Given the description of an element on the screen output the (x, y) to click on. 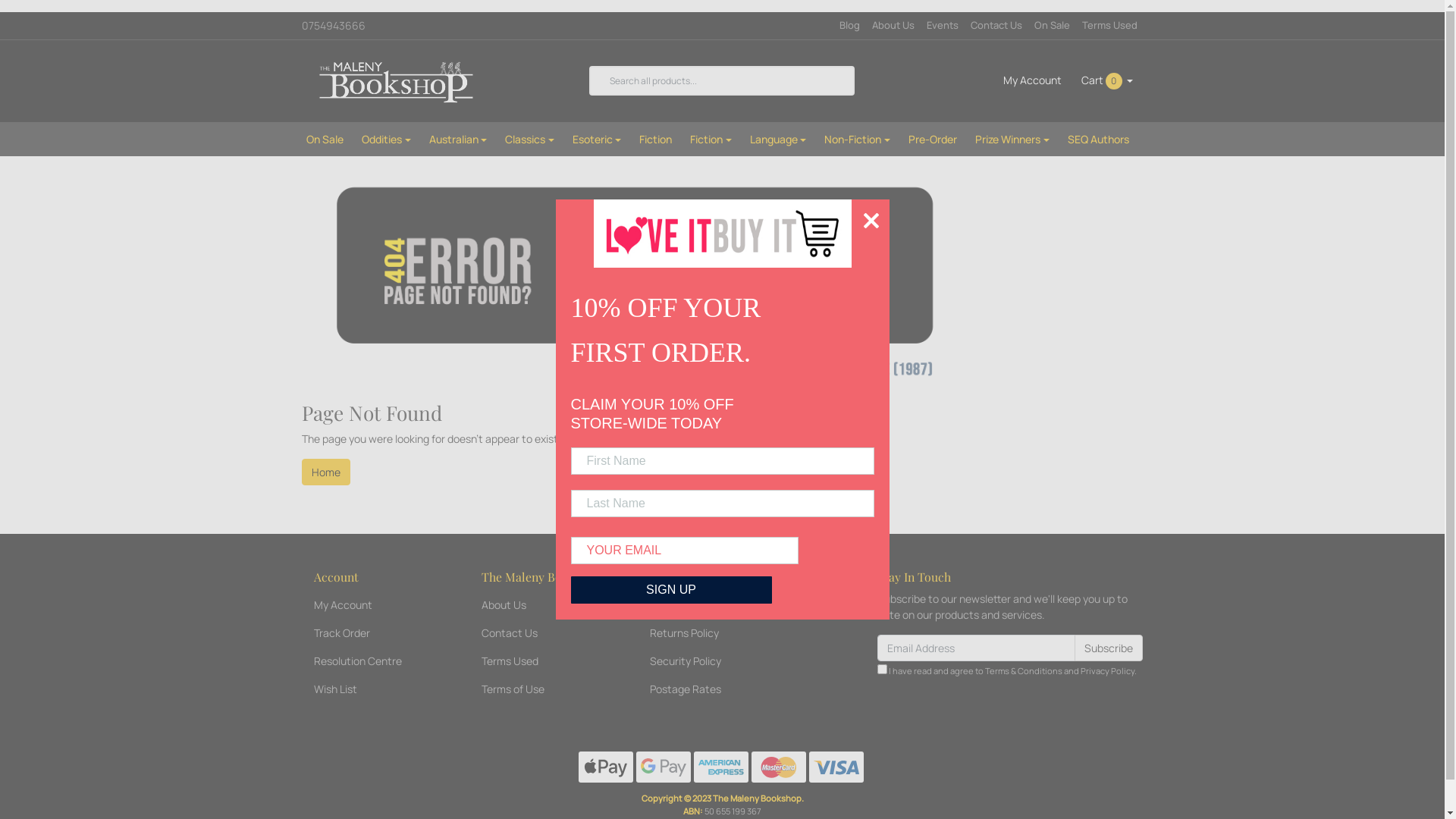
Wish List Element type: text (374, 688)
Cart 0 Element type: text (1107, 80)
Resolution Centre Element type: text (374, 660)
0754943666 Element type: text (351, 25)
Terms & Conditions Element type: text (1023, 670)
Fiction Element type: text (710, 139)
Terms Used Element type: text (1108, 25)
Australian Element type: text (458, 139)
The Maleny Bookshop Element type: hover (398, 79)
SEQ Authors Element type: text (1098, 139)
About Us Element type: text (542, 604)
My Account Element type: text (374, 604)
Contact Us Element type: text (542, 632)
Esoteric Element type: text (596, 139)
Home Element type: text (325, 471)
Non-Fiction Element type: text (857, 139)
About Us Element type: text (893, 25)
Oddities Element type: text (386, 139)
Returns Policy Element type: text (710, 632)
Classics Element type: text (529, 139)
Events Element type: text (942, 25)
Blog Element type: text (848, 25)
Prize Winners Element type: text (1012, 139)
Subscribe Element type: text (1108, 647)
The Maleny Bookshop Home Page Element type: hover (638, 281)
Pre-Order Element type: text (932, 139)
Privacy Policy Element type: text (1107, 670)
Skip to main content Element type: text (0, 12)
Postage Rates Element type: text (710, 688)
On Sale Element type: text (324, 139)
Language Element type: text (777, 139)
On Sale Element type: text (1052, 25)
Terms Used Element type: text (542, 660)
Search Element type: text (599, 80)
Track Order Element type: text (374, 632)
Contact Us Element type: text (996, 25)
Privacy Policy Element type: text (710, 604)
Terms of Use Element type: text (542, 688)
My Account Element type: text (1032, 80)
Security Policy Element type: text (710, 660)
Fiction Element type: text (655, 139)
